Given the description of an element on the screen output the (x, y) to click on. 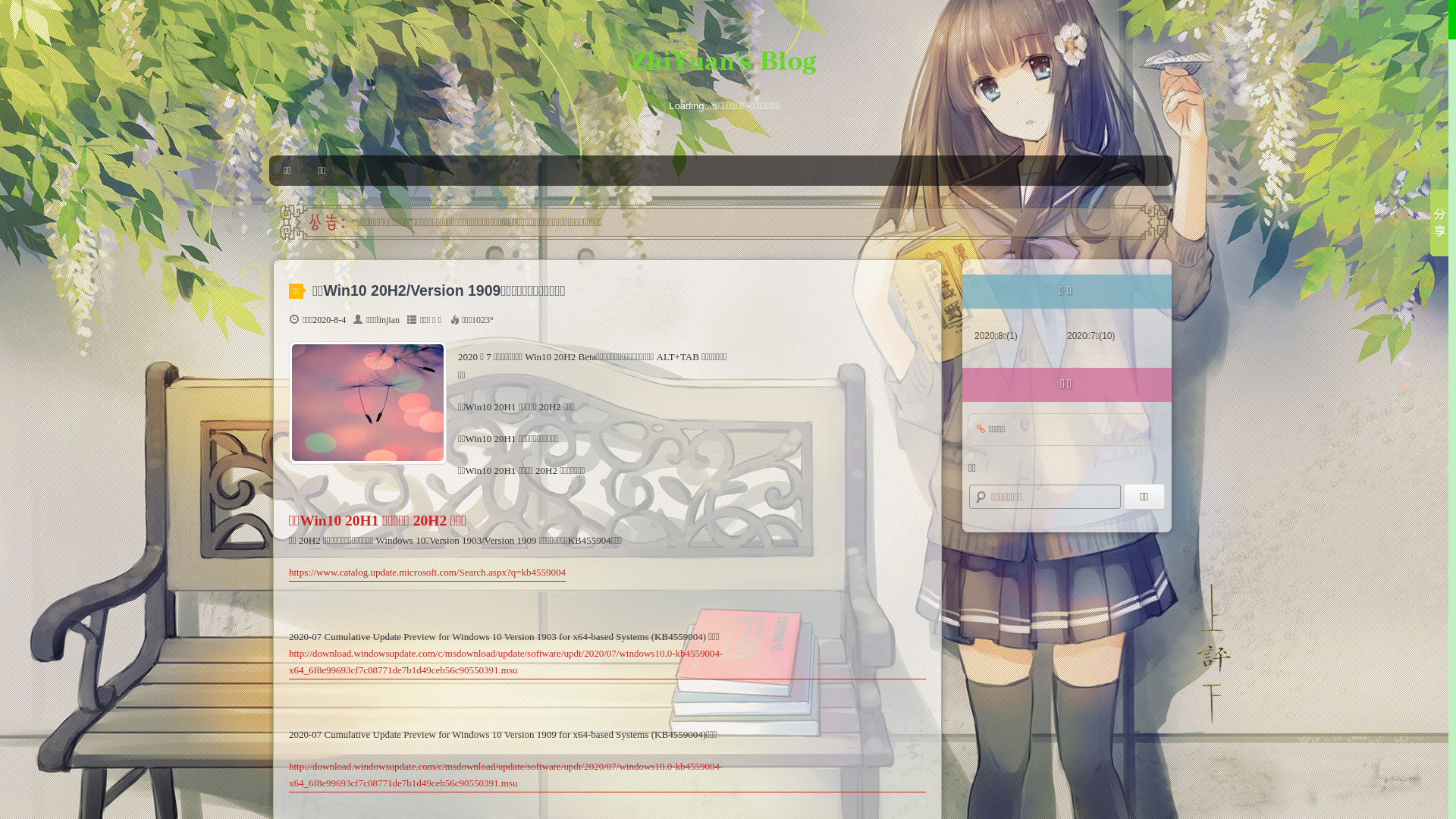
1023 Element type: text (480, 319)
linjian Element type: text (387, 319)
